Given the description of an element on the screen output the (x, y) to click on. 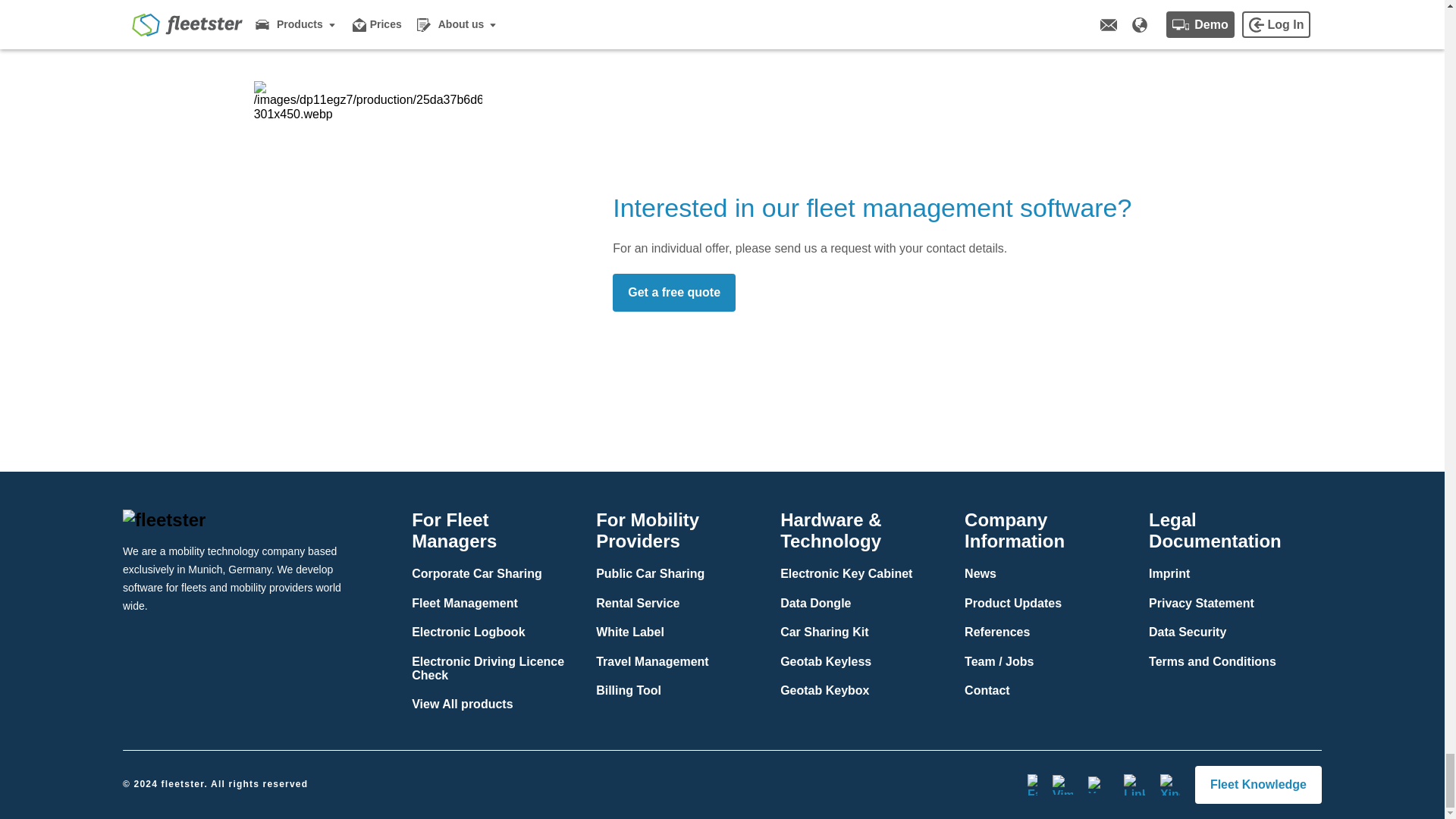
LinkedIn (1134, 784)
YouTube (1097, 784)
Xing (1169, 784)
Vimeo (1062, 784)
